Given the description of an element on the screen output the (x, y) to click on. 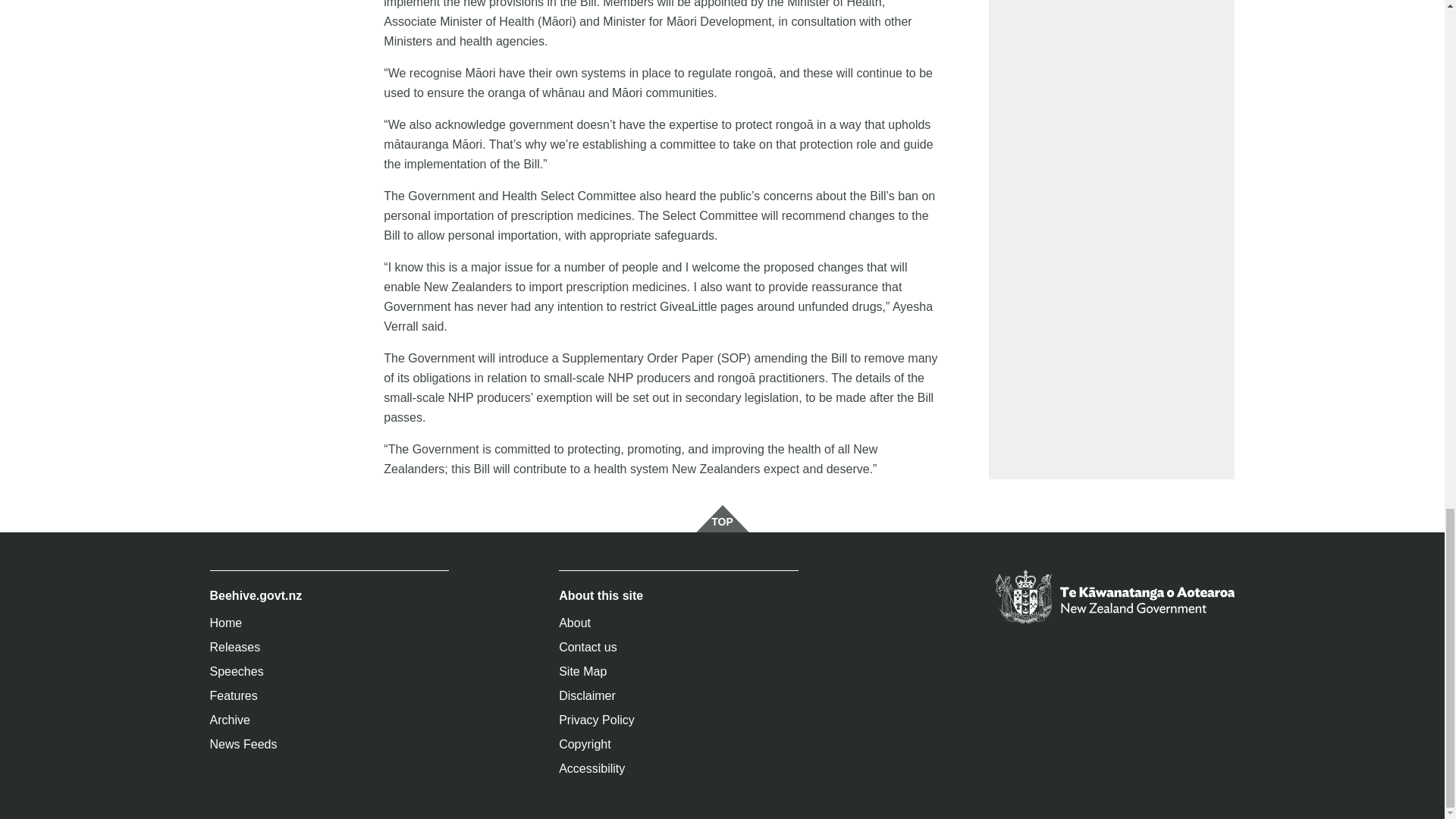
Back to top of page (722, 518)
News Feeds (328, 744)
Contact us (678, 647)
TOP (722, 518)
Releases (328, 647)
Site Map (678, 671)
Privacy Policy (678, 720)
Speeches (328, 671)
Copyright (678, 744)
Features (328, 695)
Archive (328, 720)
Disclaimer (678, 695)
Home (328, 622)
About (678, 622)
